Given the description of an element on the screen output the (x, y) to click on. 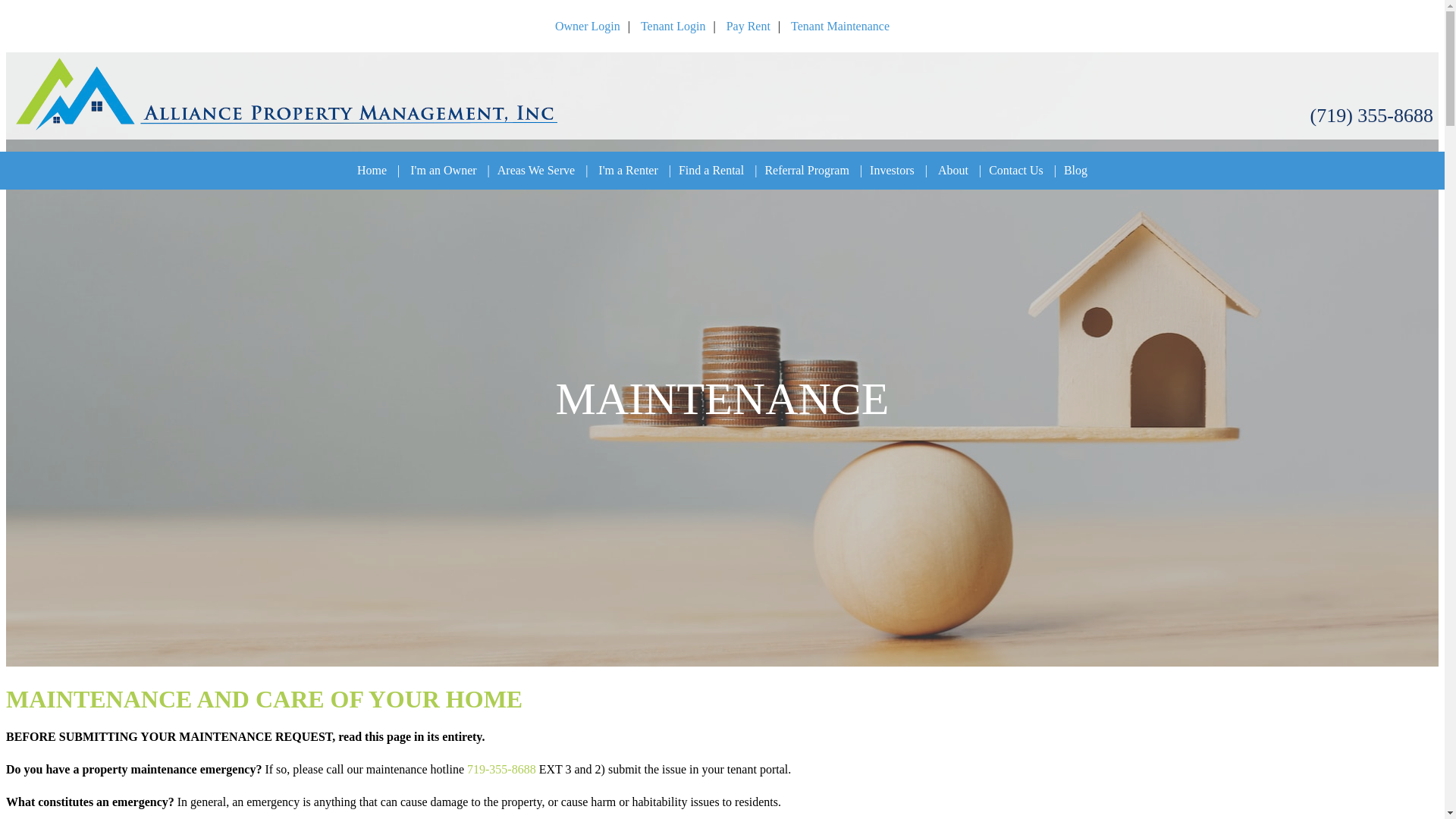
Areas We Serve (536, 169)
I'm a Renter (628, 169)
Tenant Maintenance (839, 25)
Pay Rent (748, 25)
Owner Login (587, 25)
Home (371, 169)
Referral Program (806, 169)
I'm an Owner (443, 169)
Tenant Login (673, 25)
Find a Rental (711, 169)
